Given the description of an element on the screen output the (x, y) to click on. 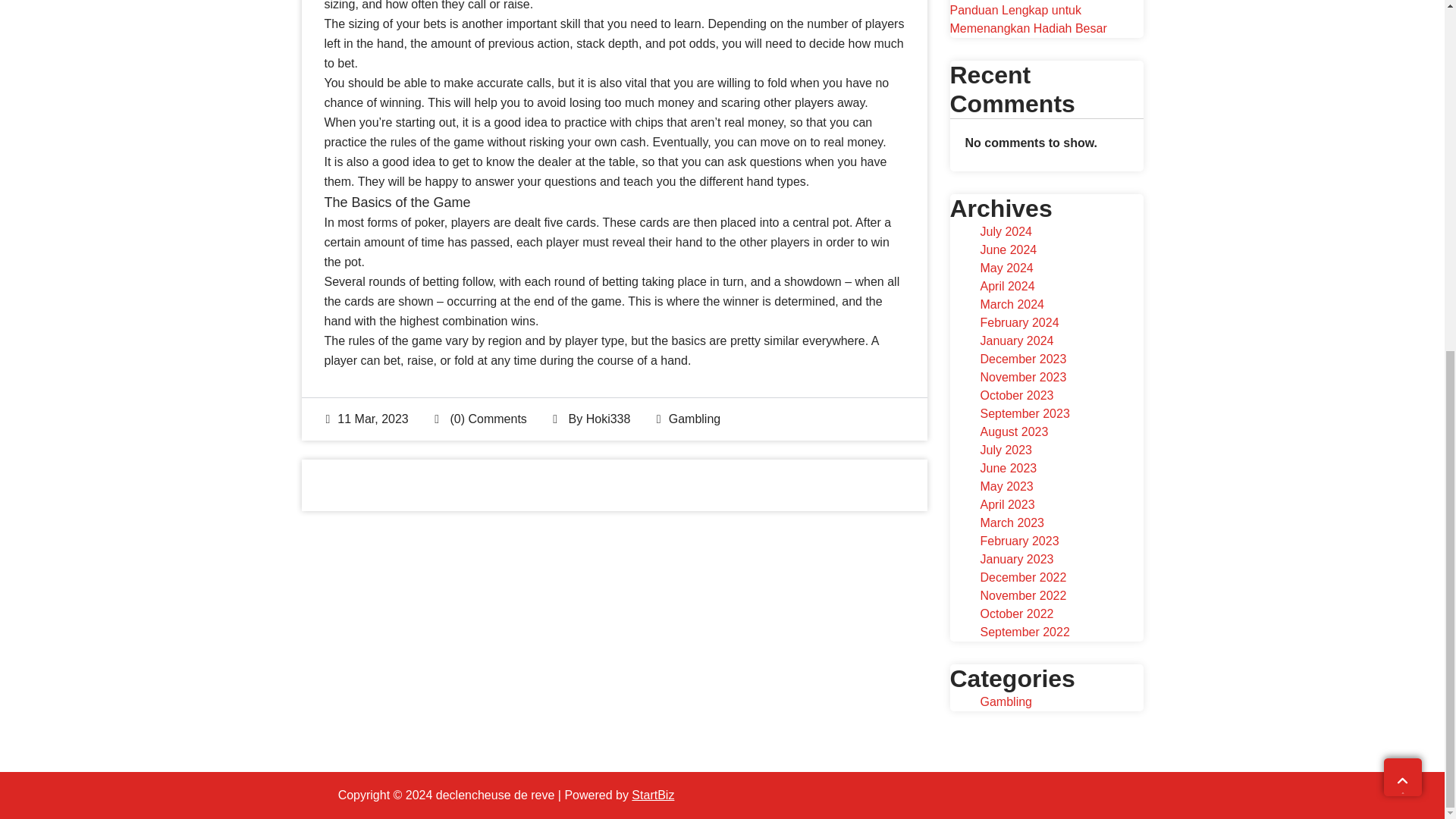
June 2024 (1007, 248)
November 2023 (1022, 376)
December 2023 (1022, 358)
June 2023 (1007, 467)
January 2024 (1015, 339)
Hoki338 (608, 418)
September 2023 (1023, 412)
February 2024 (1018, 321)
April 2023 (1006, 503)
July 2023 (1005, 449)
April 2024 (1006, 285)
August 2023 (1013, 431)
Gambling (694, 418)
July 2024 (1005, 230)
11 Mar, 2023 (367, 418)
